Given the description of an element on the screen output the (x, y) to click on. 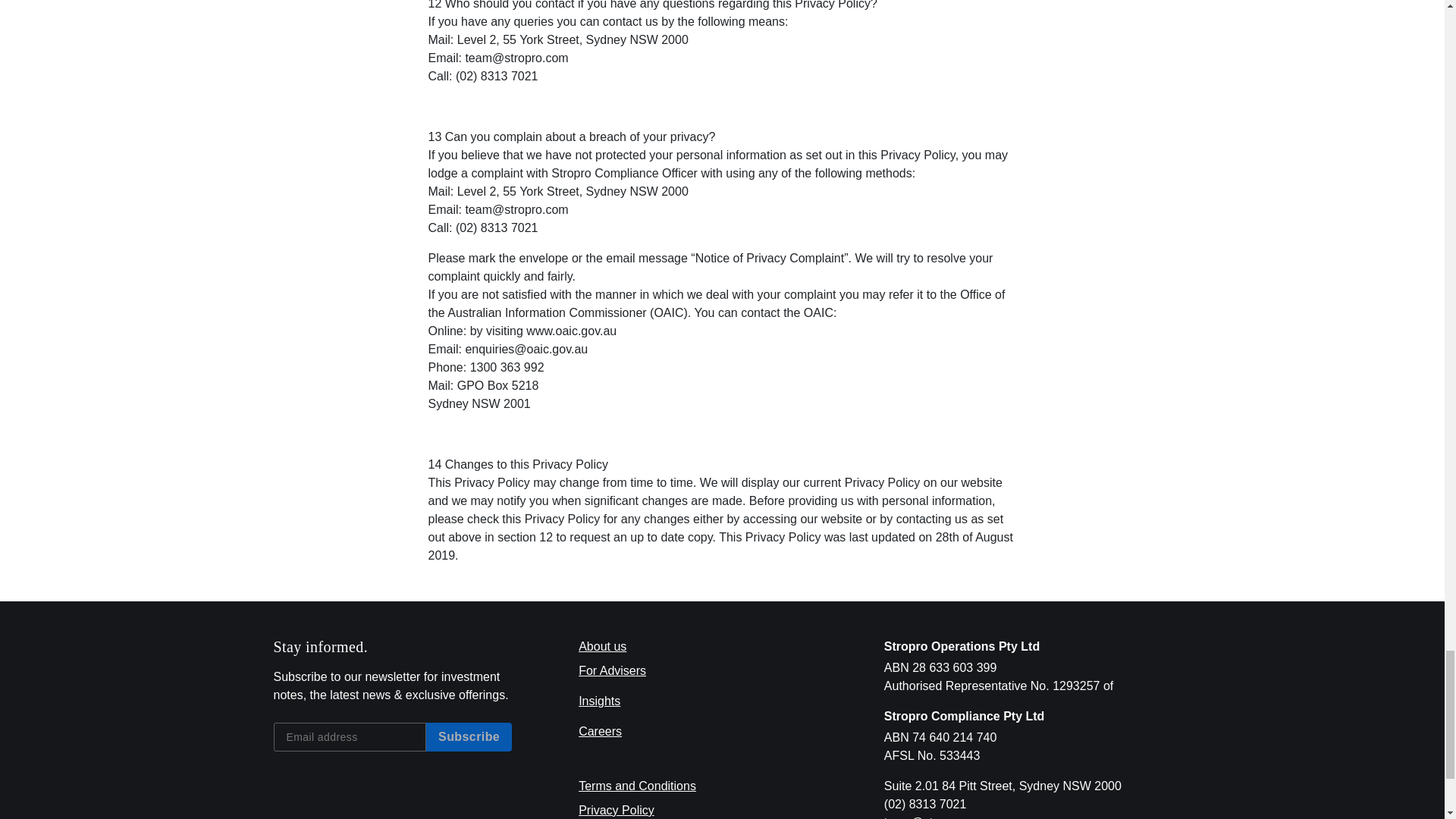
Careers (599, 730)
Insights (599, 700)
Terms and Conditions (636, 785)
About us (602, 645)
Subscribe (469, 736)
For Advisers (612, 670)
Privacy Policy (615, 809)
Subscribe (469, 736)
